Given the description of an element on the screen output the (x, y) to click on. 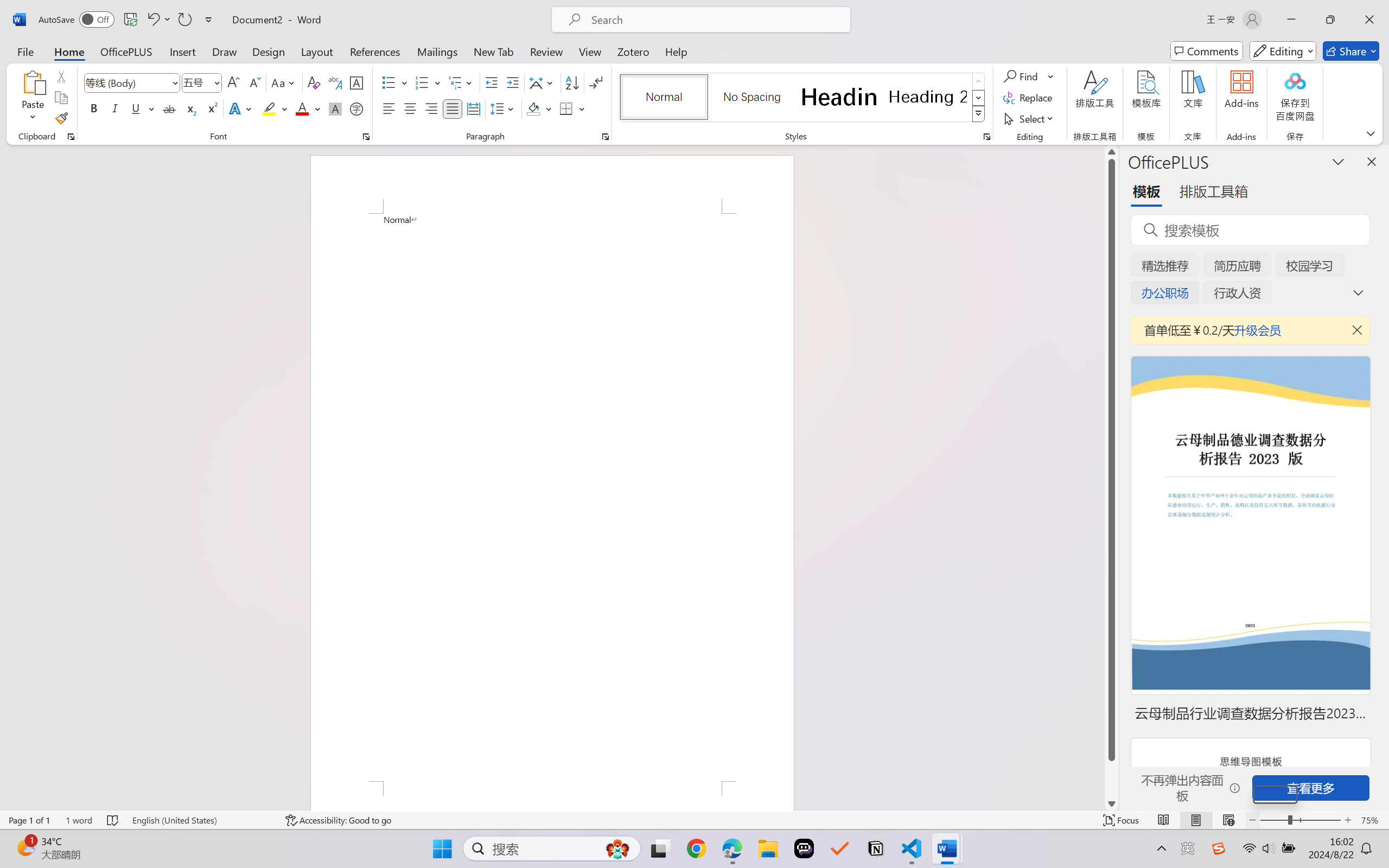
Format Painter (60, 118)
Ribbon Display Options (1370, 132)
Class: NetUIImage (978, 114)
Zoom (1300, 819)
Line and Paragraph Spacing (503, 108)
Insert (182, 51)
Class: Image (1218, 847)
Numbering (421, 82)
Class: NetUIScrollBar (1111, 477)
Replace... (1029, 97)
Home (69, 51)
Select (1030, 118)
